Given the description of an element on the screen output the (x, y) to click on. 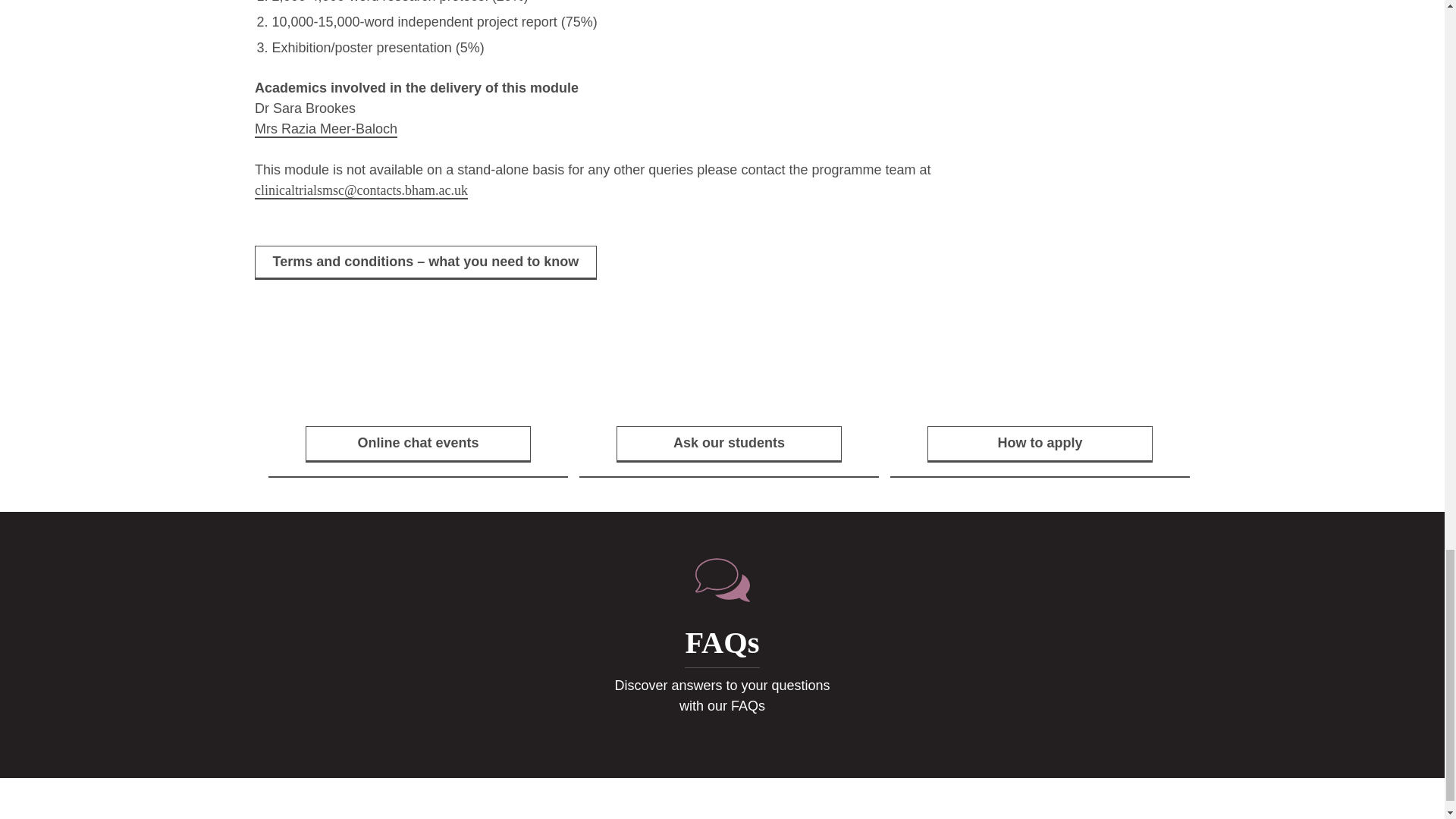
How to apply (1039, 402)
Mrs Razia Meer-Baloch (325, 129)
Ask our students (729, 402)
Razia Meer-Baloch (722, 644)
Online chat events (325, 129)
